Given the description of an element on the screen output the (x, y) to click on. 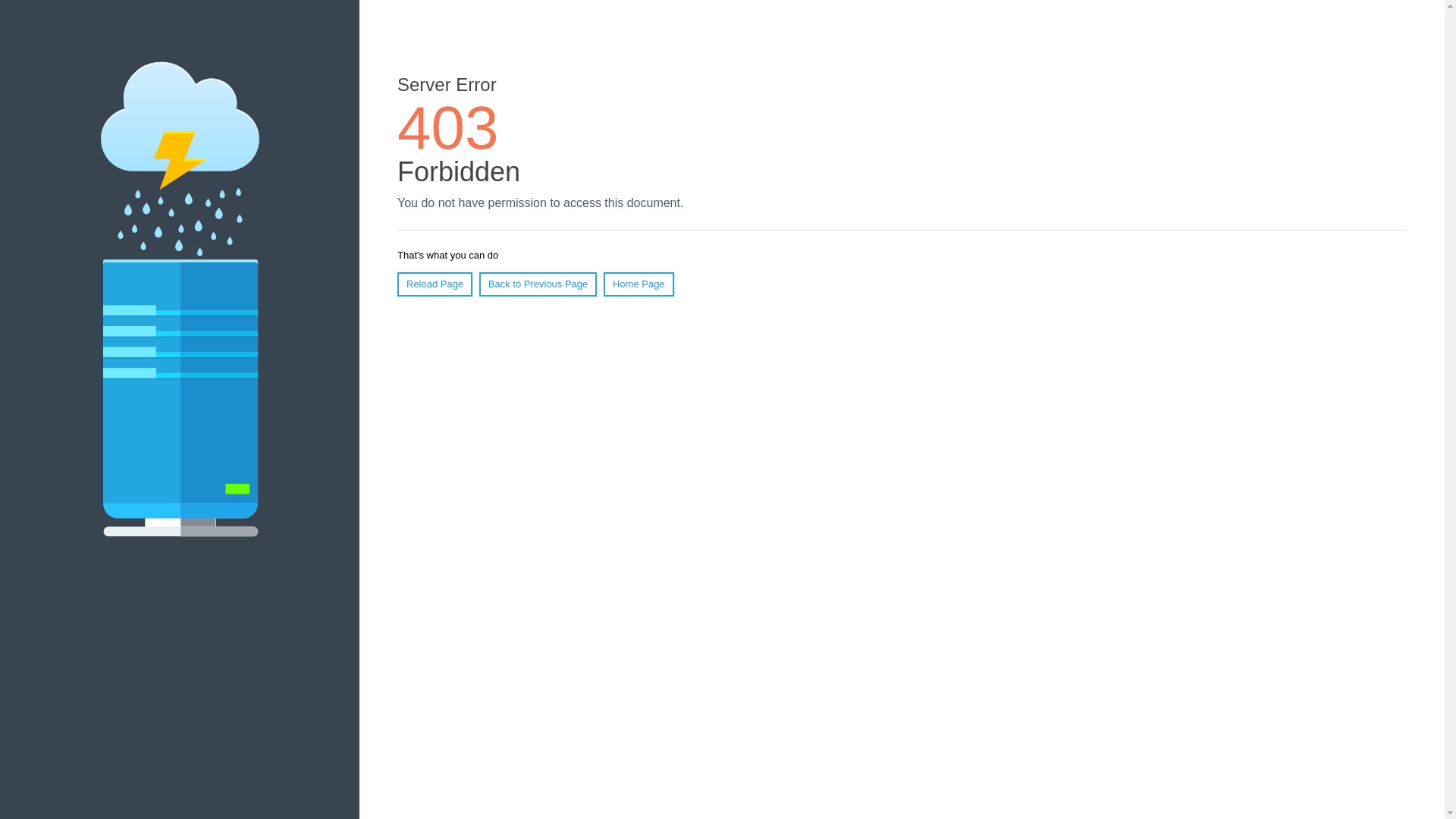
Home Page (639, 283)
Reload Page (434, 283)
Back to Previous Page (537, 283)
